Given the description of an element on the screen output the (x, y) to click on. 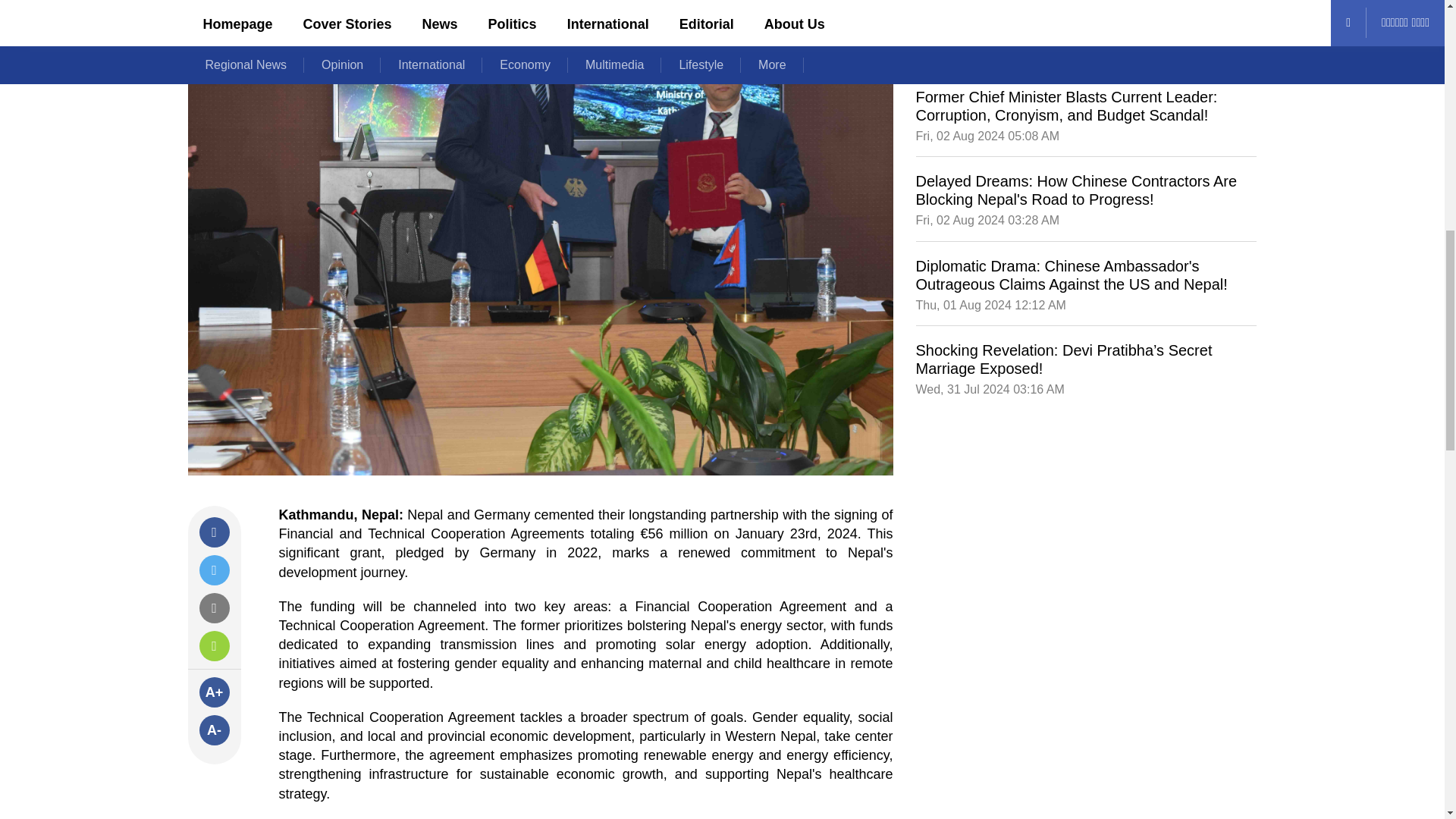
email (213, 607)
facebook (213, 531)
A- (213, 729)
sharethis (213, 645)
twitter (213, 570)
